Given the description of an element on the screen output the (x, y) to click on. 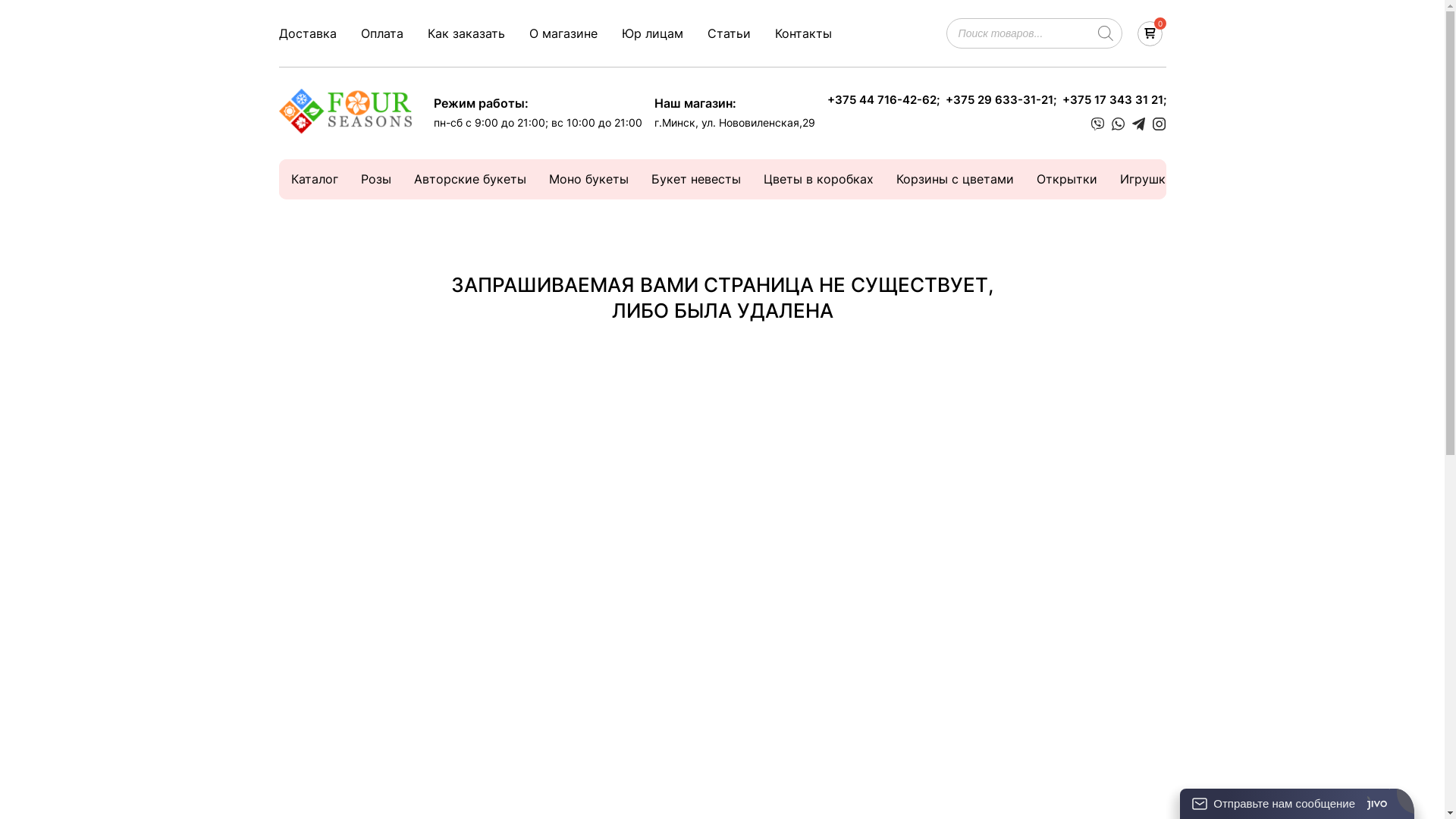
+375 44 716-42-62; Element type: text (882, 100)
+375 29 633-31-21; Element type: text (999, 100)
+375 17 343 31 21; Element type: text (1113, 100)
